Given the description of an element on the screen output the (x, y) to click on. 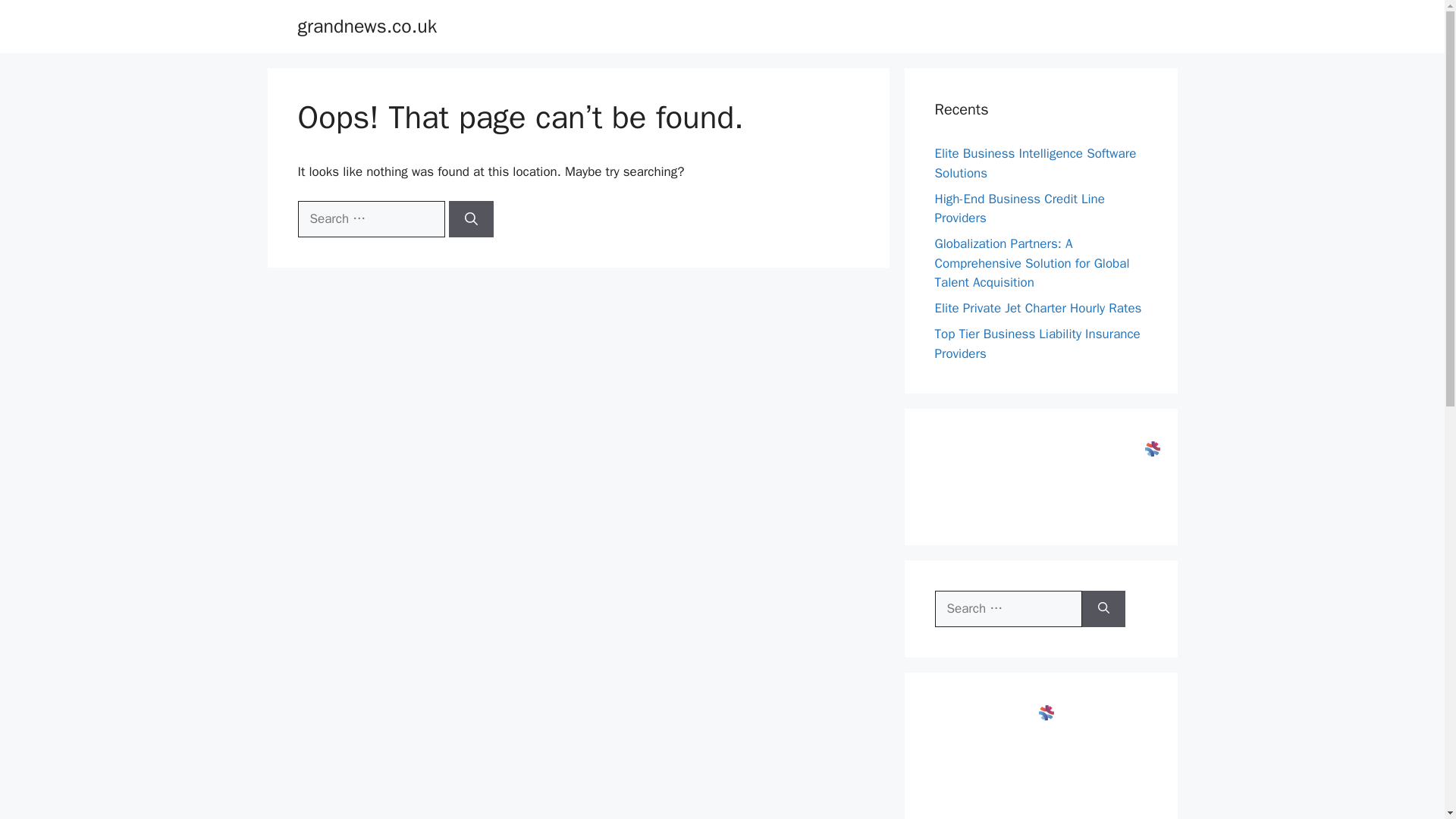
Top Tier Business Liability Insurance Providers (1037, 343)
High-End Business Credit Line Providers (1018, 208)
grandnews.co.uk (366, 25)
Search for: (1007, 608)
Elite Private Jet Charter Hourly Rates (1037, 308)
Search for: (370, 218)
Elite Business Intelligence Software Solutions (1034, 162)
